Given the description of an element on the screen output the (x, y) to click on. 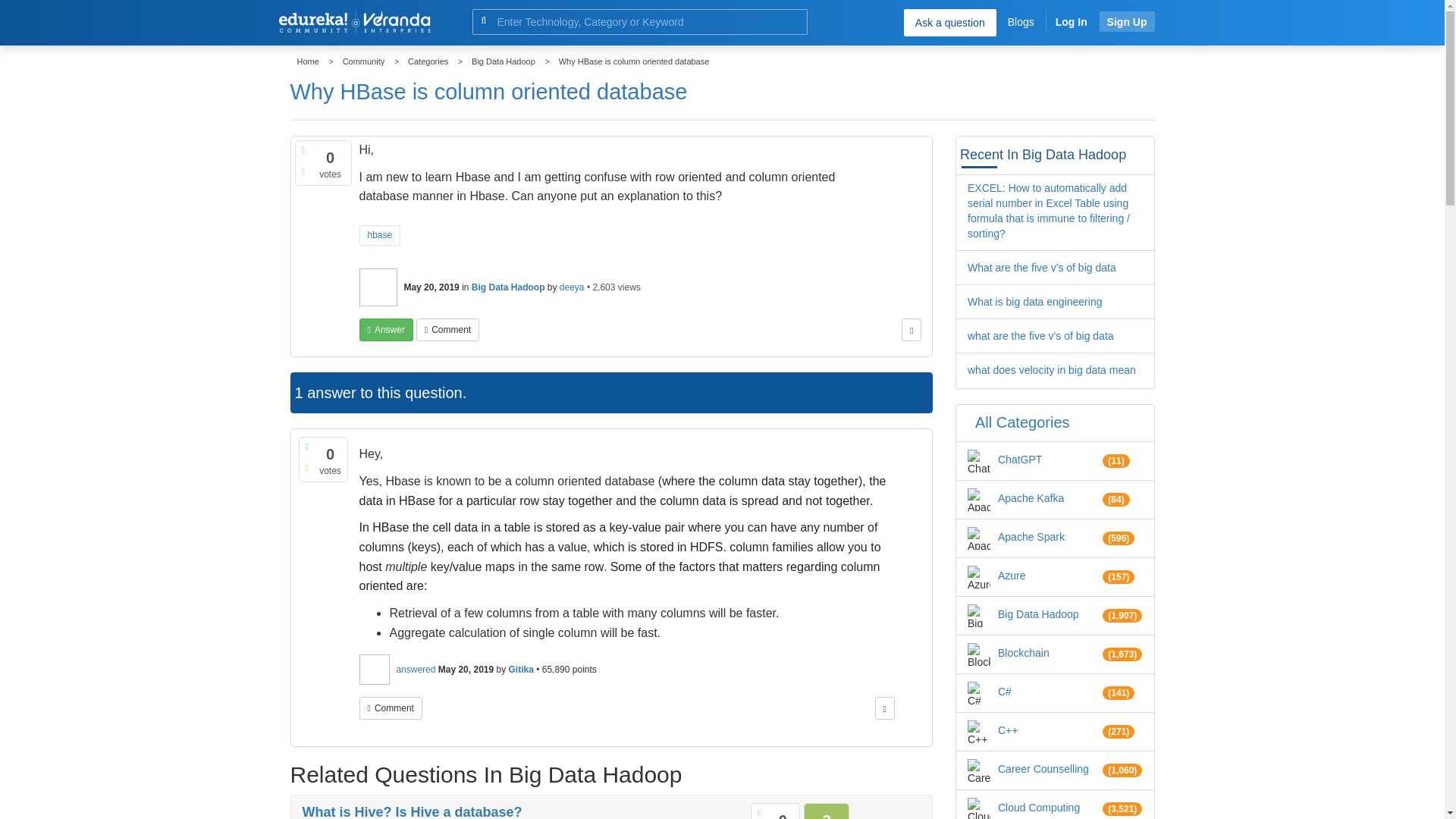
Blogs (1020, 21)
Ask a question (949, 22)
Add a comment on this answer (390, 707)
Add a comment on this question (447, 329)
Answer this question (386, 329)
